Given the description of an element on the screen output the (x, y) to click on. 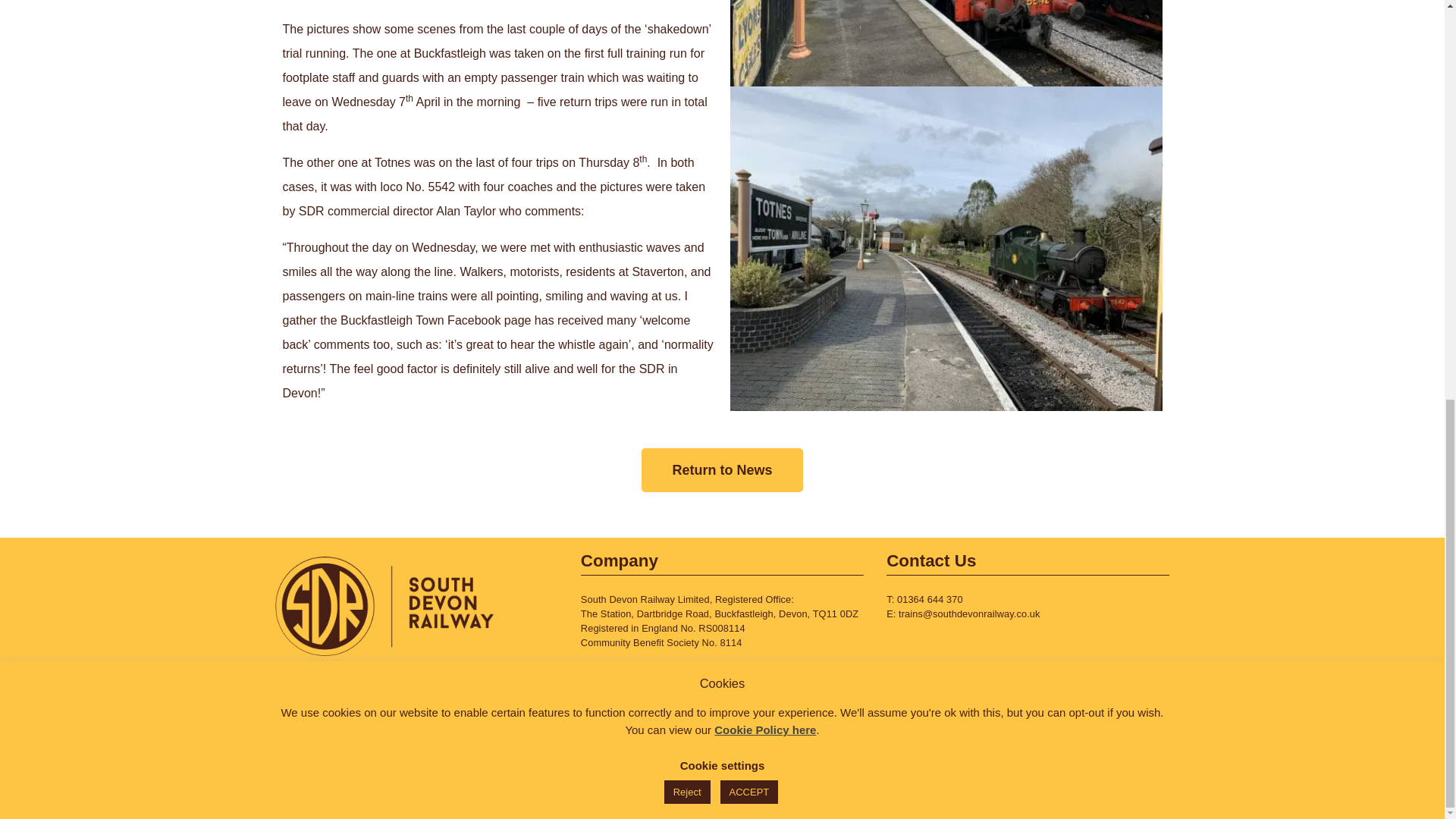
VSD-teal member logo - South Devon Railway (1027, 746)
Find us on Raildays - South Devon Railway (416, 746)
